Given the description of an element on the screen output the (x, y) to click on. 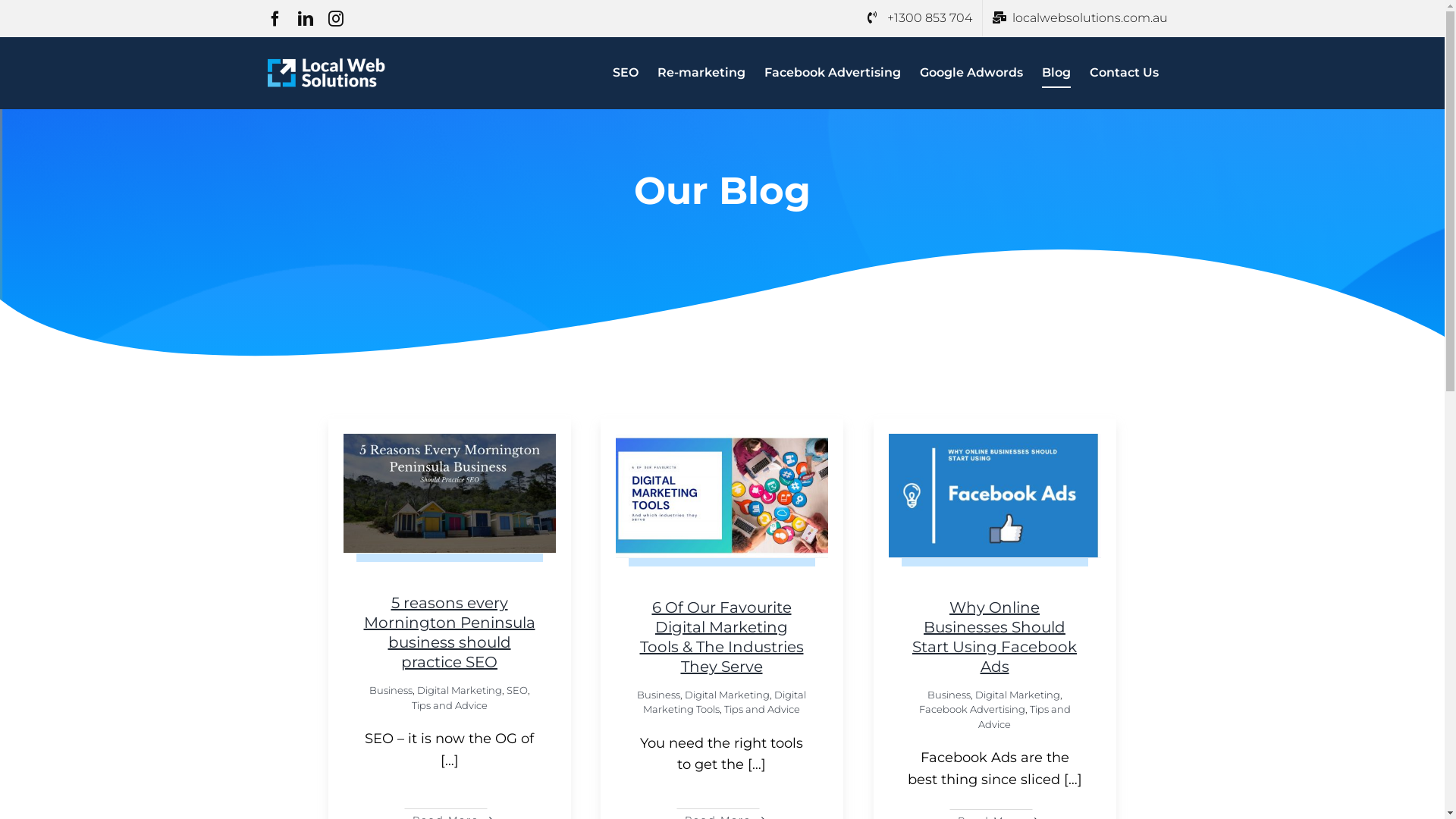
Digital Marketing Element type: text (459, 690)
+1300 853 704 Element type: text (918, 18)
Digital Marketing Tools Element type: text (724, 701)
Tips and Advice Element type: text (448, 705)
Business Element type: text (658, 694)
Google Adwords Element type: text (970, 72)
Blog Element type: text (1055, 72)
Facebook Advertising Element type: text (832, 72)
SEO Element type: text (625, 72)
Facebook Element type: text (274, 18)
SEO Element type: text (516, 690)
LinkedIn Element type: text (304, 18)
Business Element type: text (389, 690)
Re-marketing Element type: text (700, 72)
Contact Us Element type: text (1122, 72)
Instagram Element type: text (334, 18)
Digital Marketing Element type: text (726, 694)
Tips and Advice Element type: text (762, 708)
Facebook Advertising Element type: text (972, 708)
localwebsolutions.com.au Element type: text (1079, 18)
Digital Marketing Element type: text (1017, 694)
Business Element type: text (947, 694)
Tips and Advice Element type: text (1024, 716)
Why Online Businesses Should Start Using Facebook Ads Element type: text (994, 636)
